Given the description of an element on the screen output the (x, y) to click on. 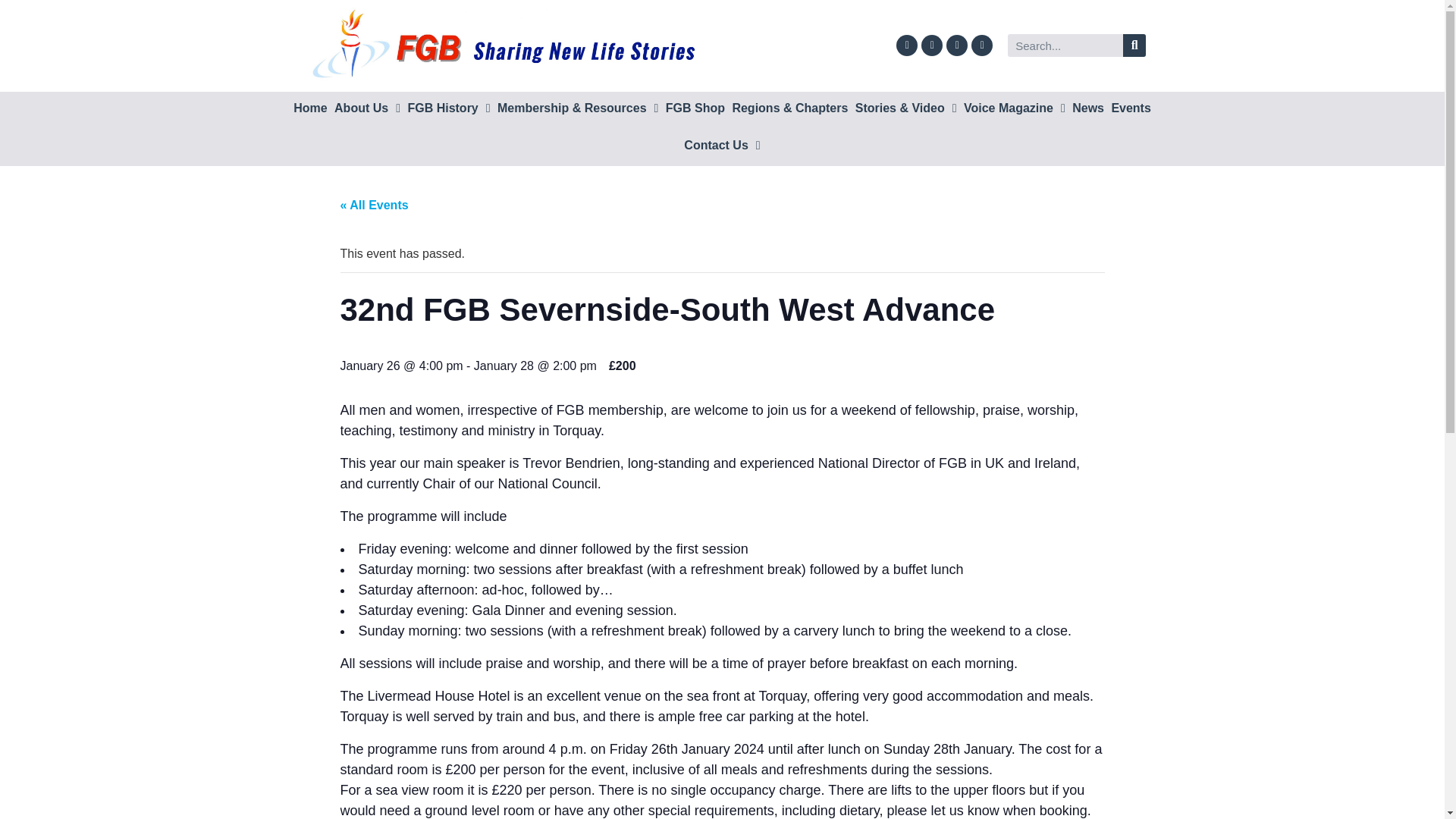
Home (309, 109)
FGB Shop (695, 109)
About Us (366, 109)
FGB History (449, 109)
